Given the description of an element on the screen output the (x, y) to click on. 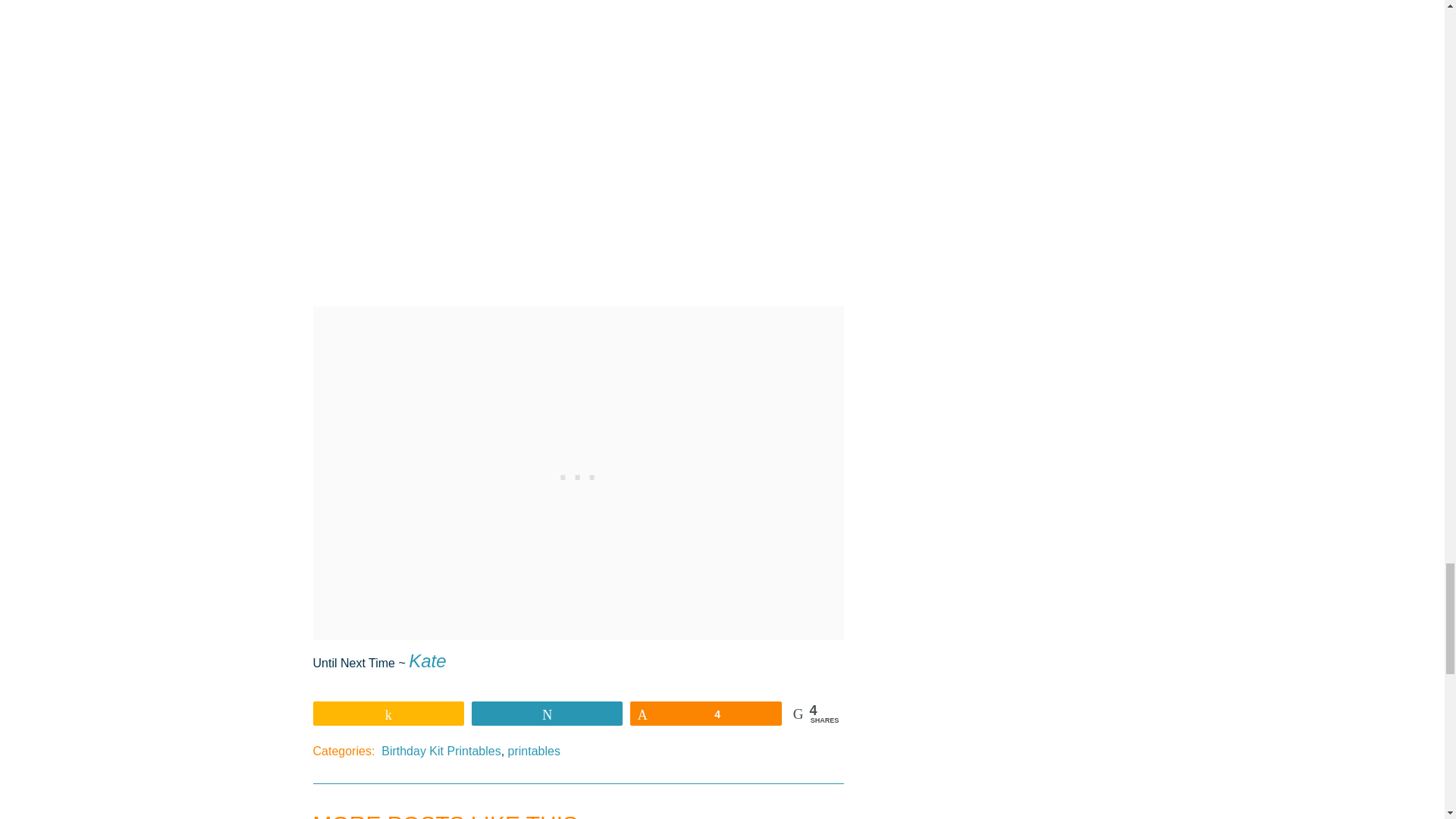
printables (534, 750)
Birthday Kit Printables (440, 750)
4 (705, 712)
